Given the description of an element on the screen output the (x, y) to click on. 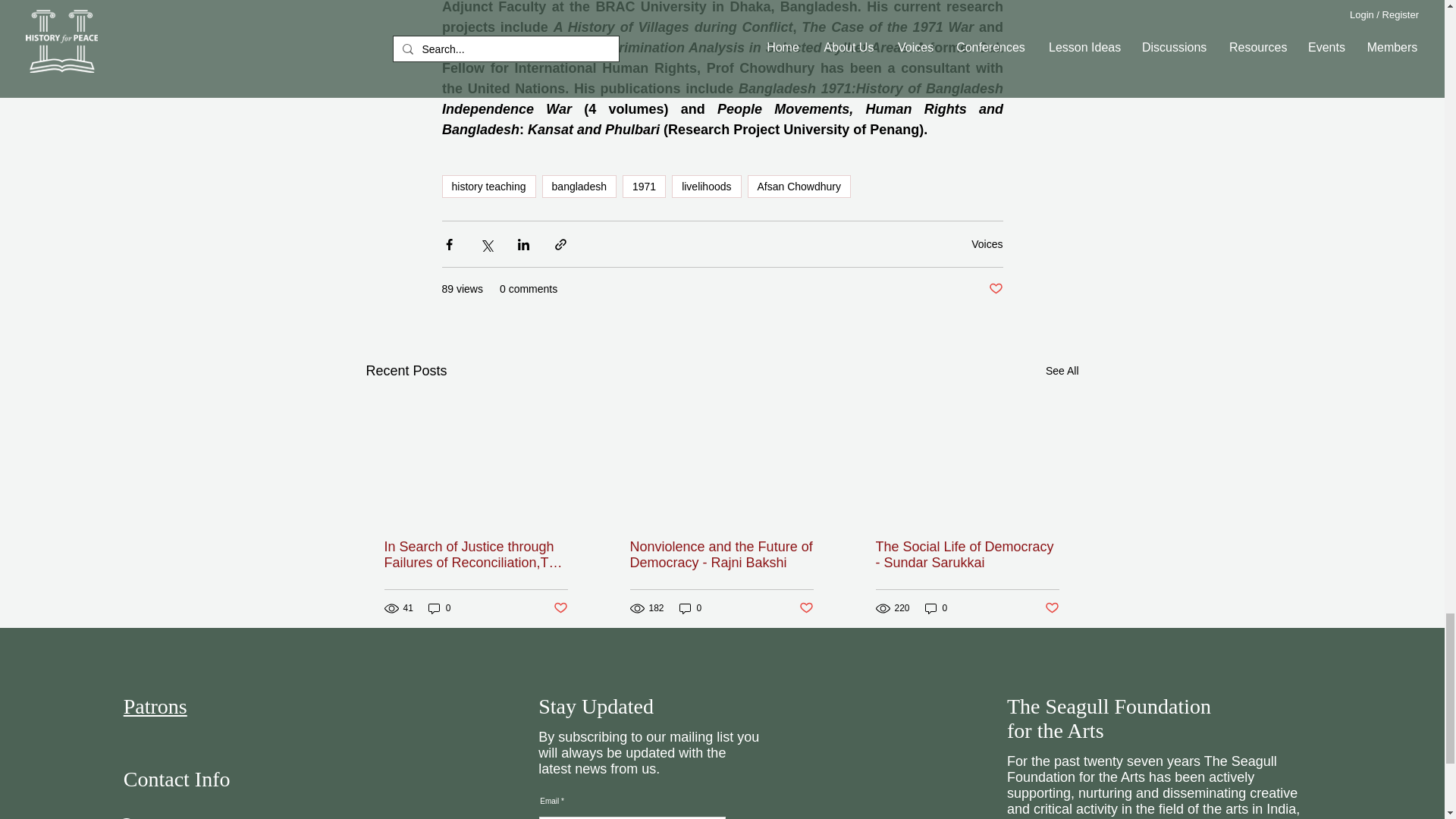
0 (439, 608)
Voices (987, 244)
See All (1061, 371)
1971 (644, 186)
bangladesh (578, 186)
Nonviolence and the Future of Democracy - Rajni Bakshi (720, 554)
Post not marked as liked (995, 289)
Afsan Chowdhury (799, 186)
0 (690, 608)
history teaching (488, 186)
Post not marked as liked (806, 608)
Post not marked as liked (560, 608)
livelihoods (706, 186)
